Given the description of an element on the screen output the (x, y) to click on. 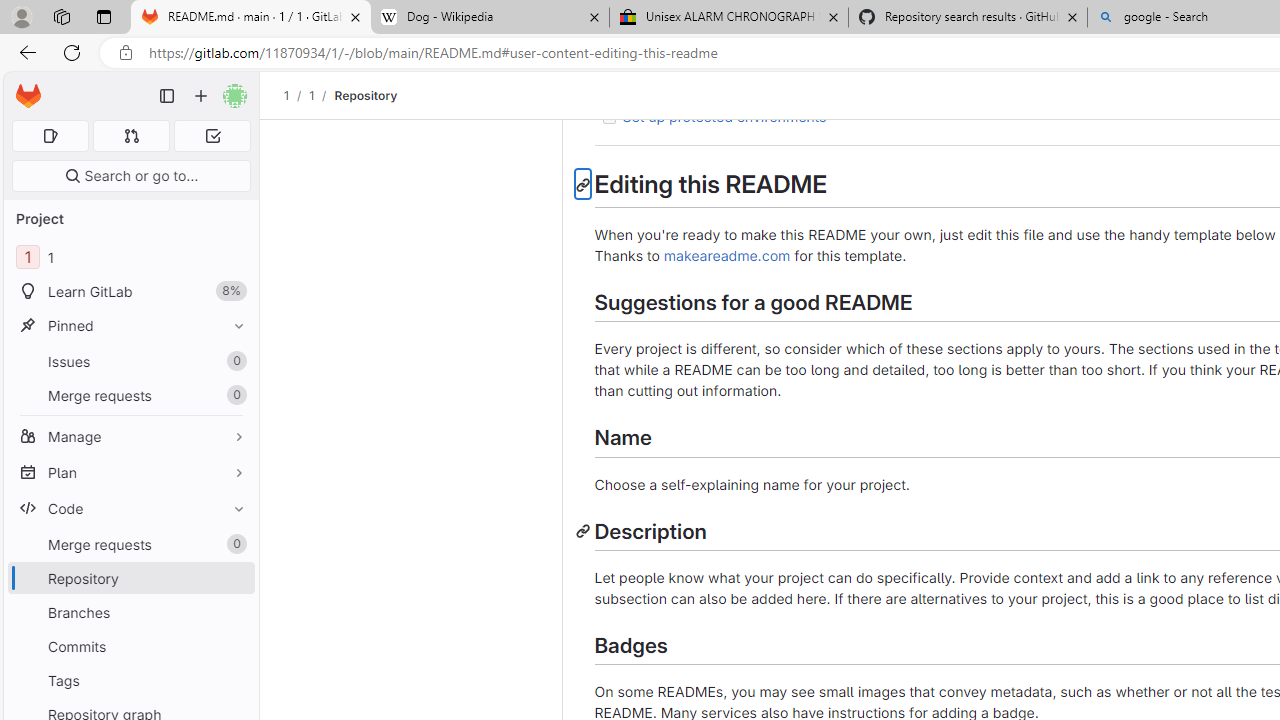
Class: task-list-item-checkbox (608, 117)
11 (130, 257)
Unpin Merge requests (234, 544)
Pin Branches (234, 611)
Primary navigation sidebar (167, 96)
Repository (366, 95)
Commits (130, 646)
Issues 0 (130, 361)
Learn GitLab 8% (130, 291)
